Given the description of an element on the screen output the (x, y) to click on. 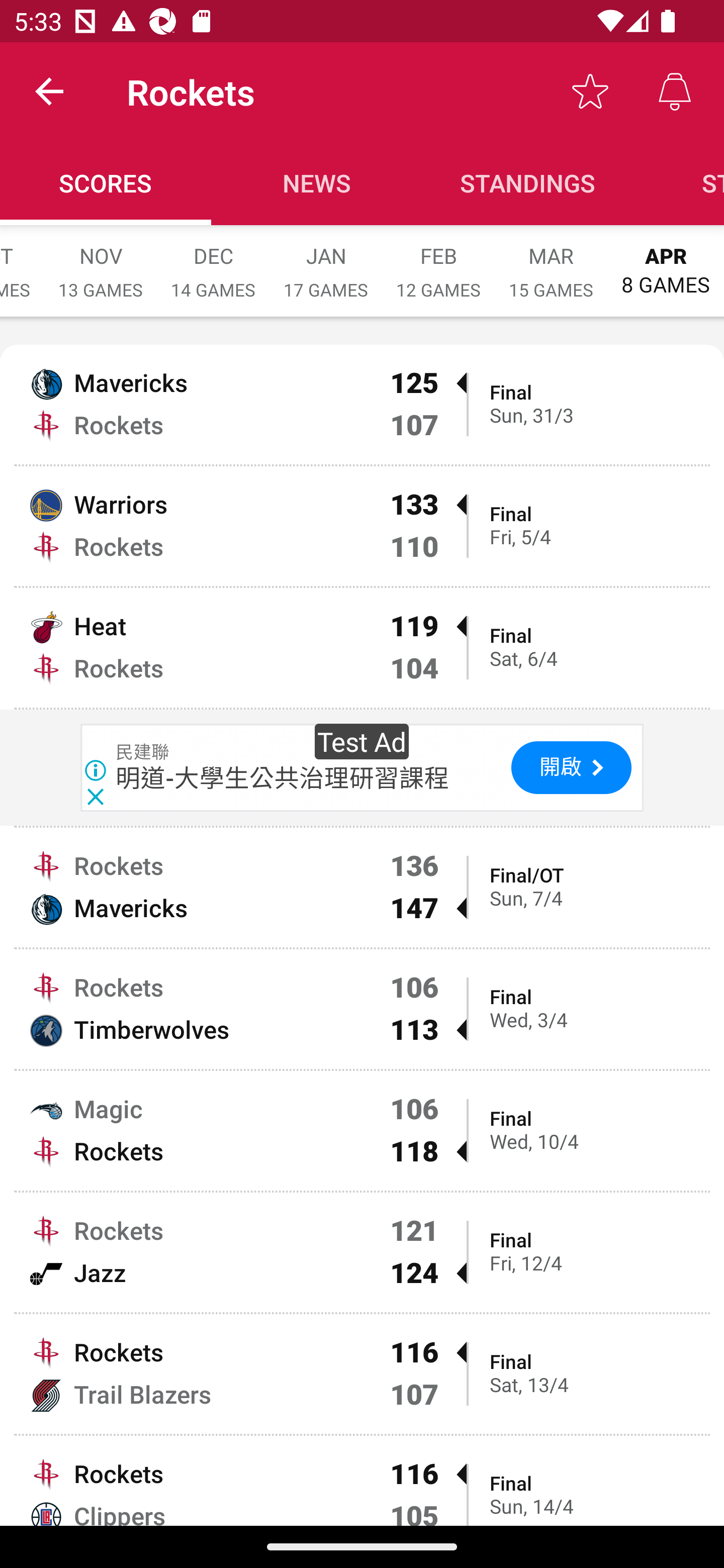
back.button (49, 90)
Favorite toggle (590, 90)
Alerts (674, 90)
News NEWS (316, 183)
Standings STANDINGS (527, 183)
NOV 13 GAMES (100, 262)
DEC 14 GAMES (213, 262)
JAN 17 GAMES (325, 262)
FEB 12 GAMES (438, 262)
MAR 15 GAMES (550, 262)
APR 8 GAMES (665, 261)
Mavericks 125  Rockets 107 Final Sun, 31/3 (362, 404)
Warriors 133  Rockets 110 Final Fri, 5/4 (362, 525)
Heat 119  Rockets 104 Final Sat, 6/4 (362, 647)
民建聯 (142, 752)
開啟 (570, 767)
明道-大學生公共治理研習課程 (282, 777)
Rockets 136 Mavericks 147  Final/OT Sun, 7/4 (362, 887)
Rockets 106 Timberwolves 113  Final Wed, 3/4 (362, 1008)
Magic 106 Rockets 118  Final Wed, 10/4 (362, 1130)
Rockets 121 Jazz 124  Final Fri, 12/4 (362, 1252)
Rockets 116  Trail Blazers 107 Final Sat, 13/4 (362, 1373)
Rockets 116  Clippers 105 Final Sun, 14/4 (362, 1480)
